Given the description of an element on the screen output the (x, y) to click on. 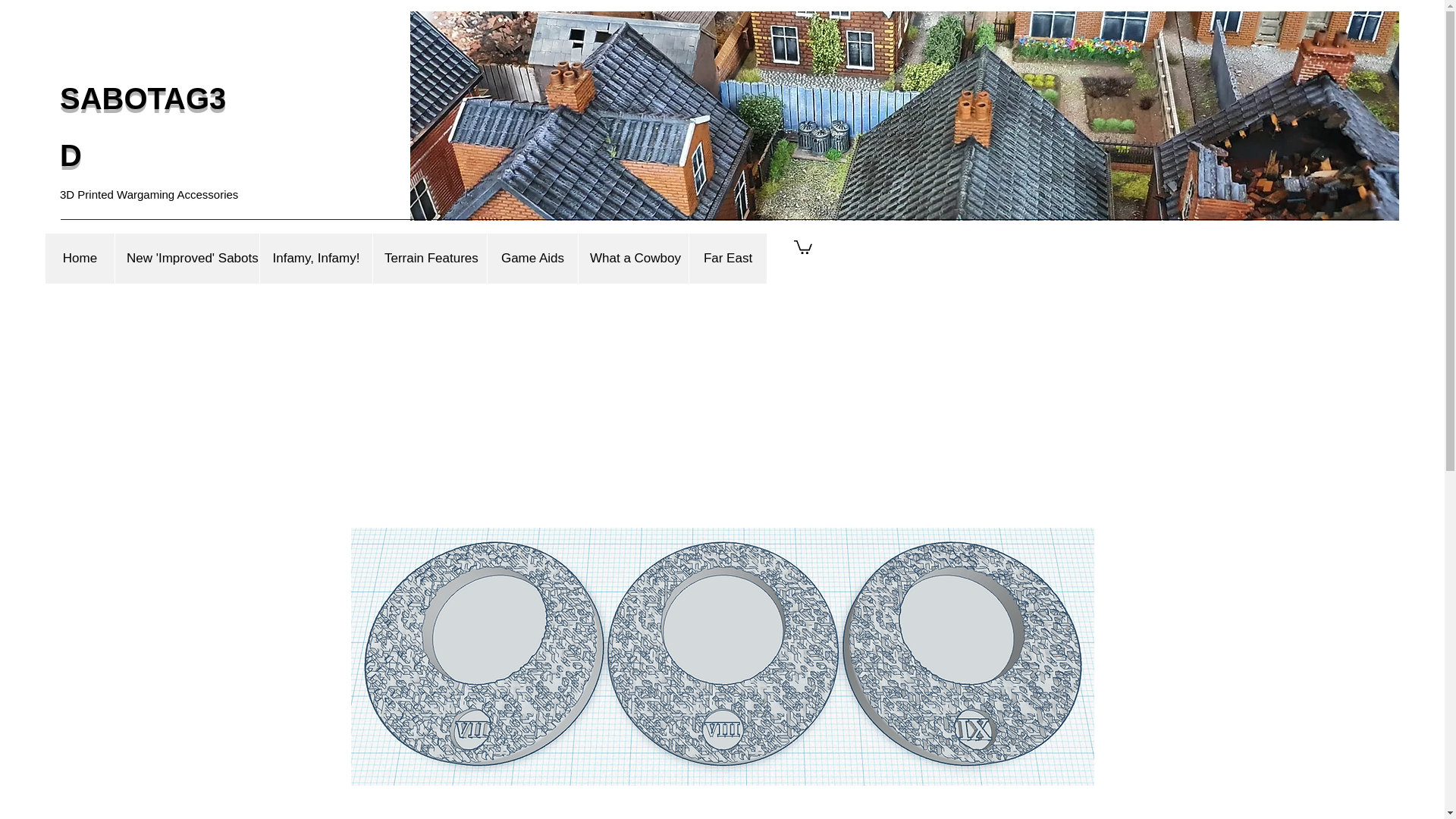
Game Aids (532, 258)
Terrain Features (429, 258)
Far East (727, 258)
Home (80, 258)
Infamy, Infamy! (315, 258)
What a Cowboy (633, 258)
